Given the description of an element on the screen output the (x, y) to click on. 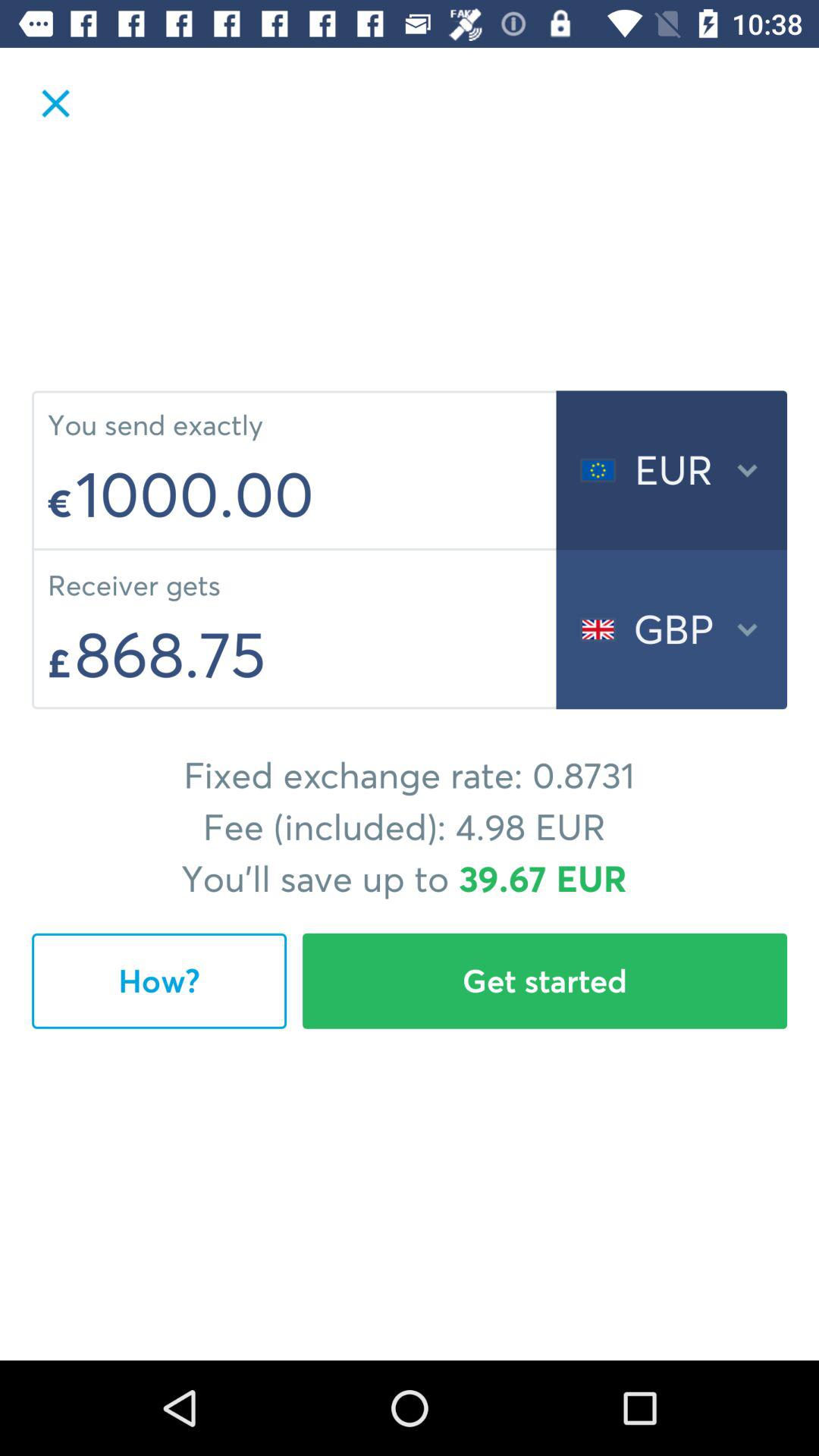
jump until the how? icon (158, 980)
